Given the description of an element on the screen output the (x, y) to click on. 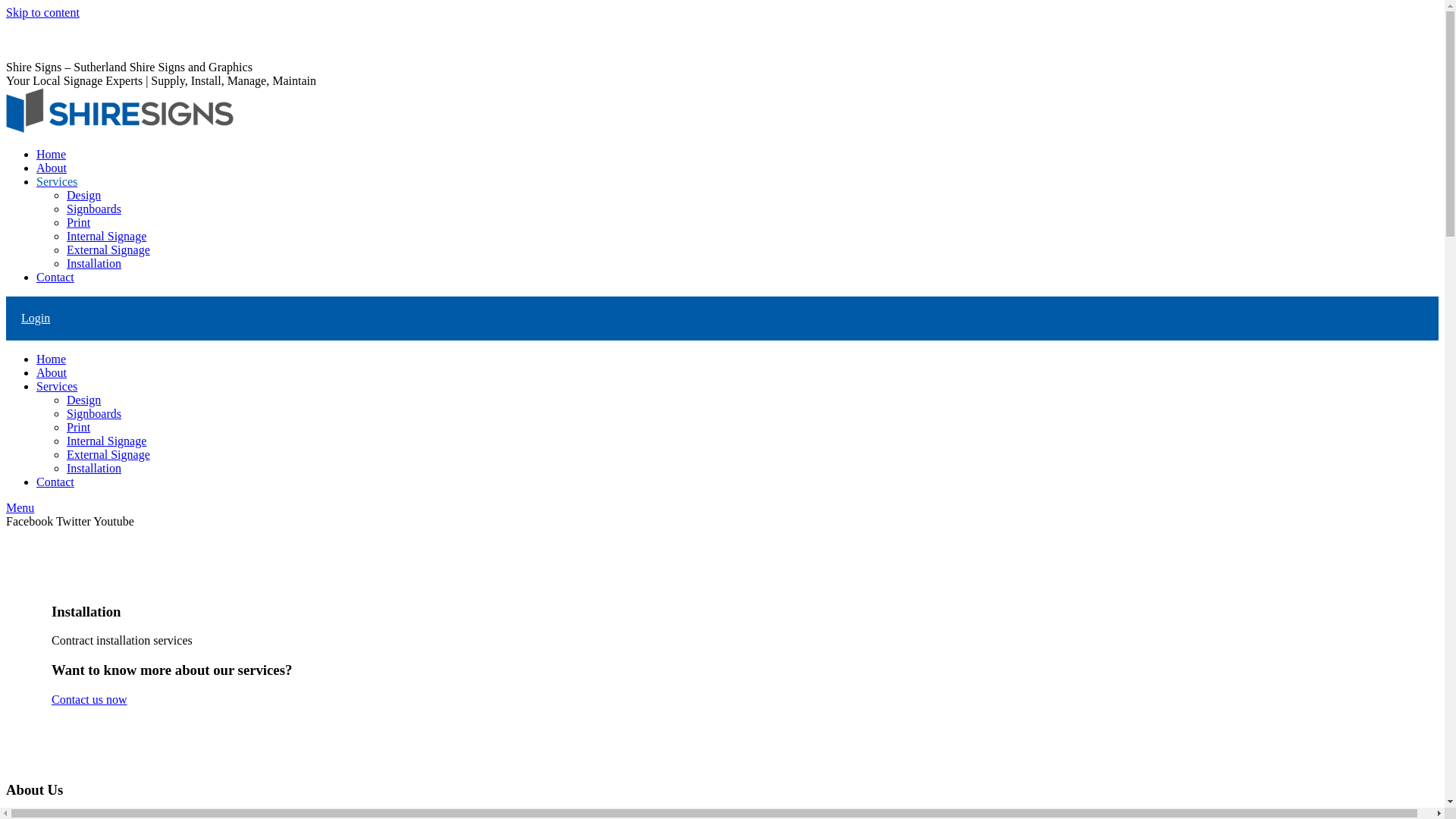
Home Element type: text (50, 358)
Signboards Element type: text (93, 413)
Design Element type: text (83, 194)
Design Element type: text (83, 399)
Installation Element type: text (93, 263)
Mail page opens in new window Element type: text (445, 53)
Services Element type: text (56, 385)
Login Element type: text (35, 317)
info@shiresigns.net.au Element type: text (128, 25)
Facebook page opens in new window Element type: text (97, 53)
Contact Element type: text (55, 481)
Twitter Element type: text (74, 520)
0475 087 233 Element type: text (39, 25)
Print Element type: text (78, 426)
About Element type: text (51, 167)
Home Element type: text (50, 153)
Installation Element type: text (93, 467)
Contact us now Element type: text (89, 699)
Internal Signage Element type: text (106, 235)
Facebook Element type: text (31, 520)
Signboards Element type: text (93, 208)
Internal Signage Element type: text (106, 440)
Linkedin page opens in new window Element type: text (277, 53)
My Account Element type: text (36, 39)
External Signage Element type: text (108, 249)
Youtube Element type: text (113, 520)
Skip to content Element type: text (42, 12)
About Element type: text (51, 372)
Print Element type: text (78, 222)
Services Element type: text (56, 181)
Menu Element type: text (20, 507)
Contact Element type: text (55, 276)
External Signage Element type: text (108, 454)
